Given the description of an element on the screen output the (x, y) to click on. 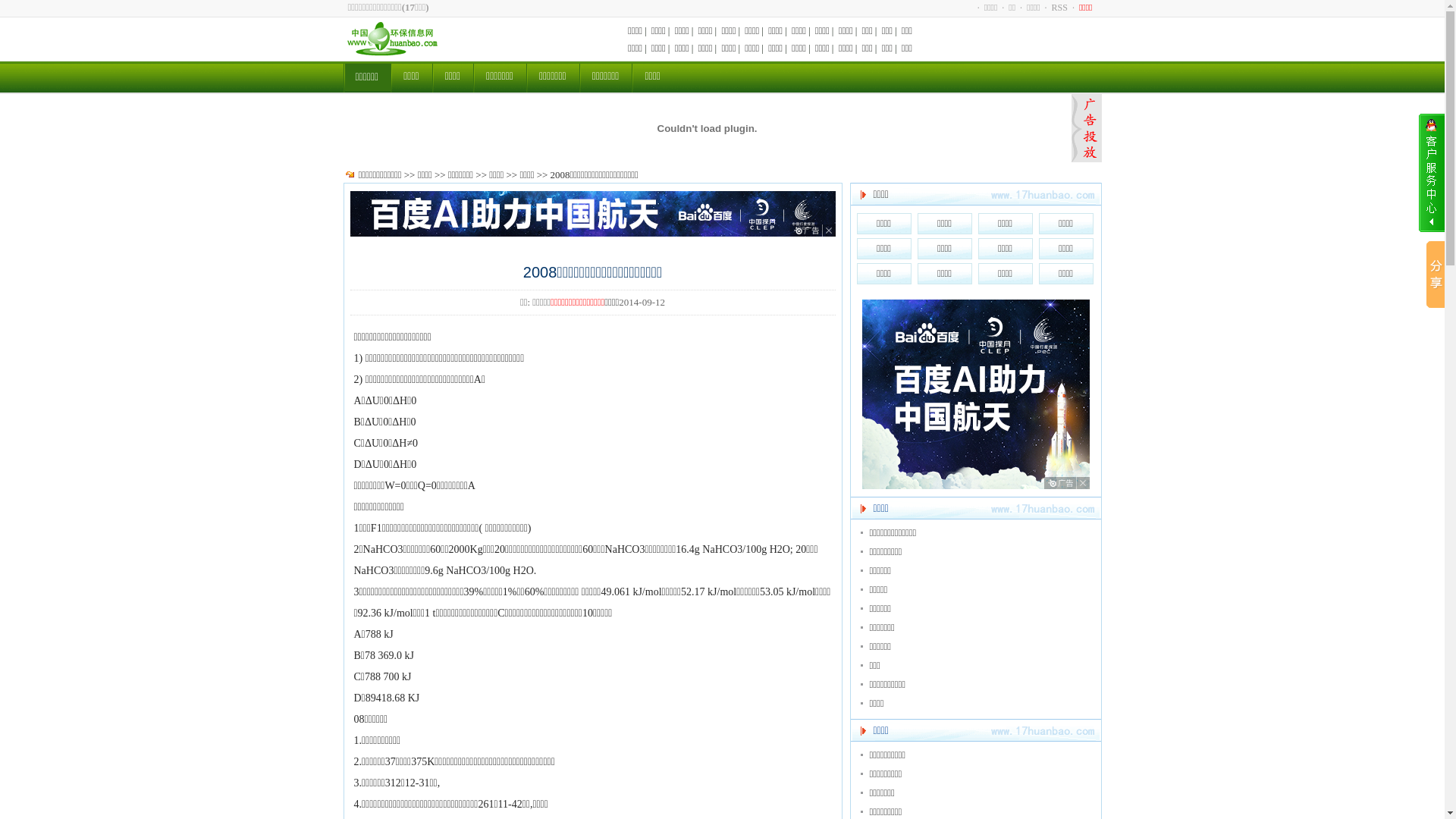
RSS Element type: text (1059, 7)
